Given the description of an element on the screen output the (x, y) to click on. 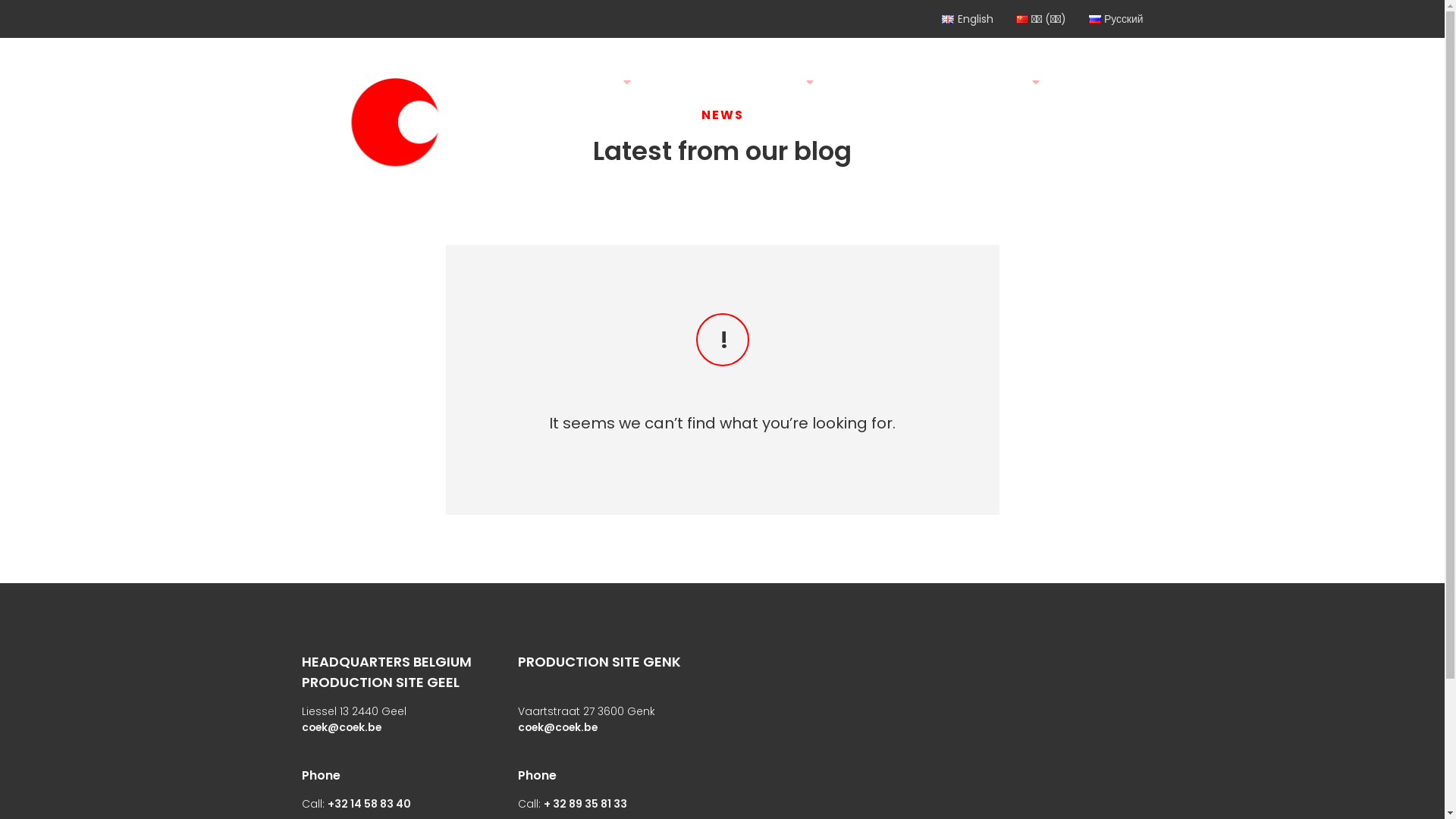
+ 32 89 35 81 33 Element type: text (584, 804)
Products Element type: text (596, 81)
Coek Engineering Element type: hover (395, 125)
Capabilities Element type: text (770, 81)
References Element type: text (998, 81)
About Element type: text (531, 81)
coek@coek.be Element type: text (556, 727)
Engineering Element type: text (679, 81)
English Element type: text (966, 19)
Transport Element type: text (913, 81)
Contact Element type: text (1077, 81)
Quality Element type: text (847, 81)
coek@coek.be Element type: text (341, 727)
Jobs Element type: text (527, 169)
+32 14 58 83 40 Element type: text (369, 804)
